Given the description of an element on the screen output the (x, y) to click on. 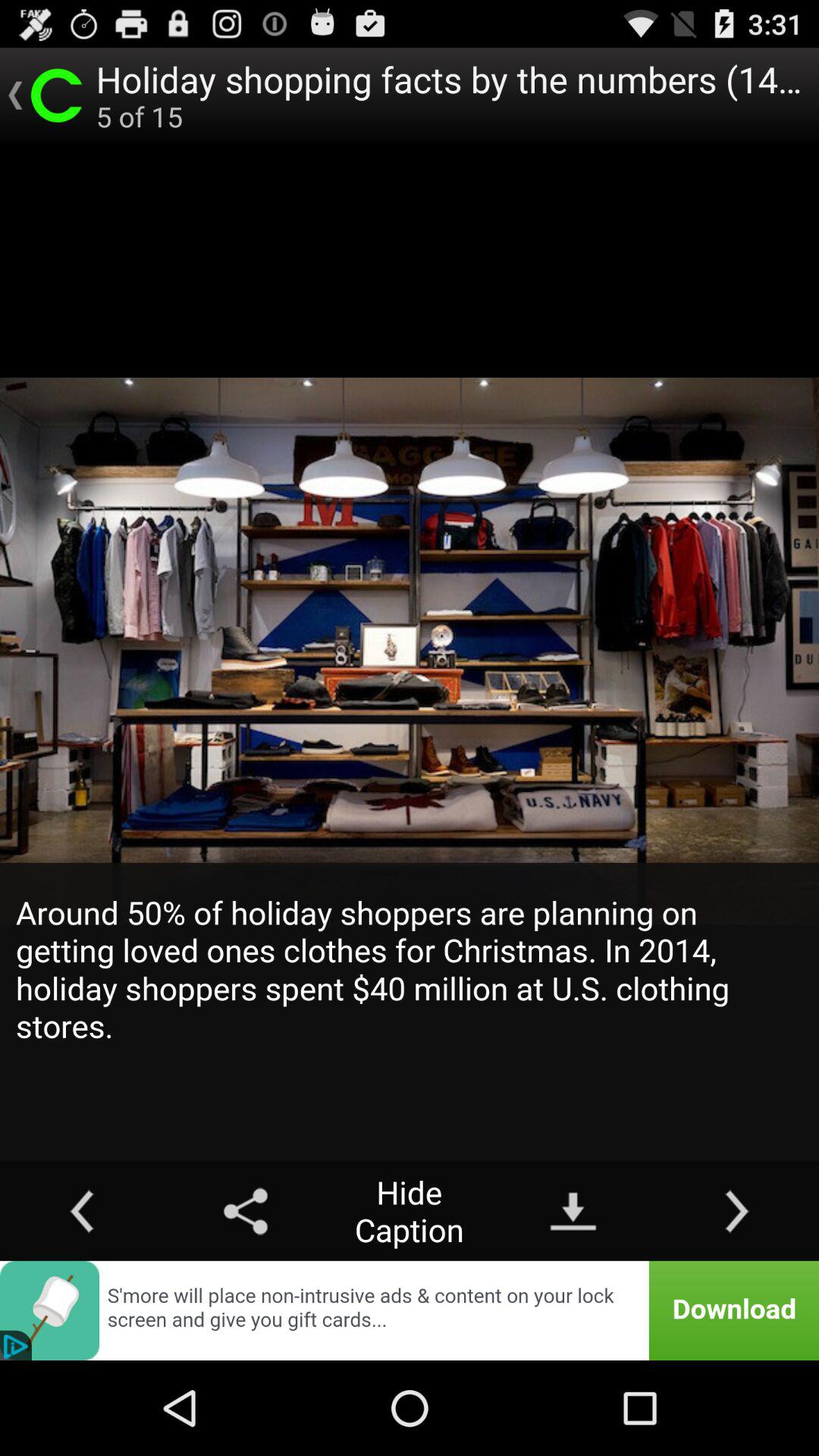
select advertisement (409, 1310)
